Given the description of an element on the screen output the (x, y) to click on. 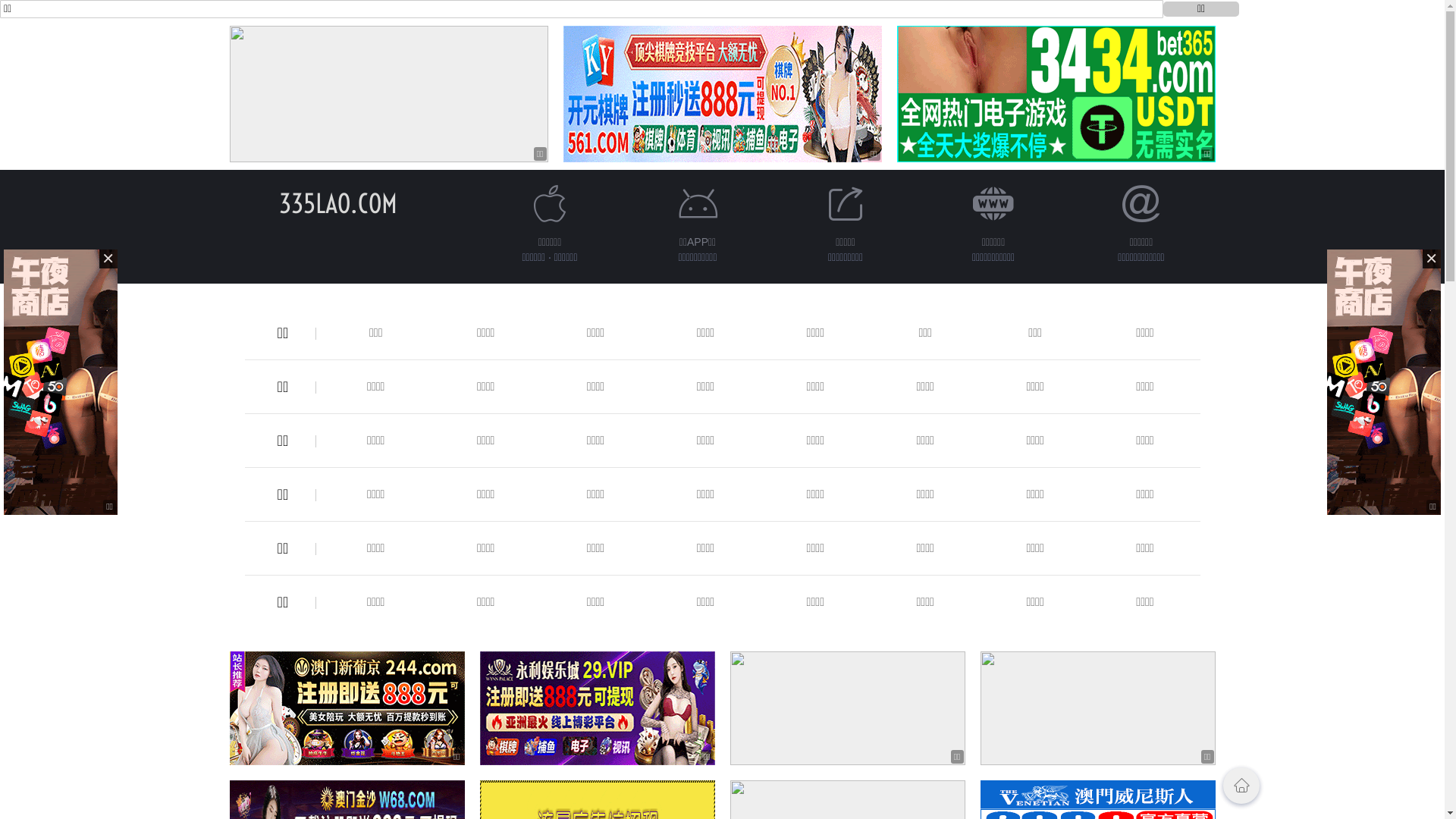
335LAO.COM Element type: text (338, 203)
